Given the description of an element on the screen output the (x, y) to click on. 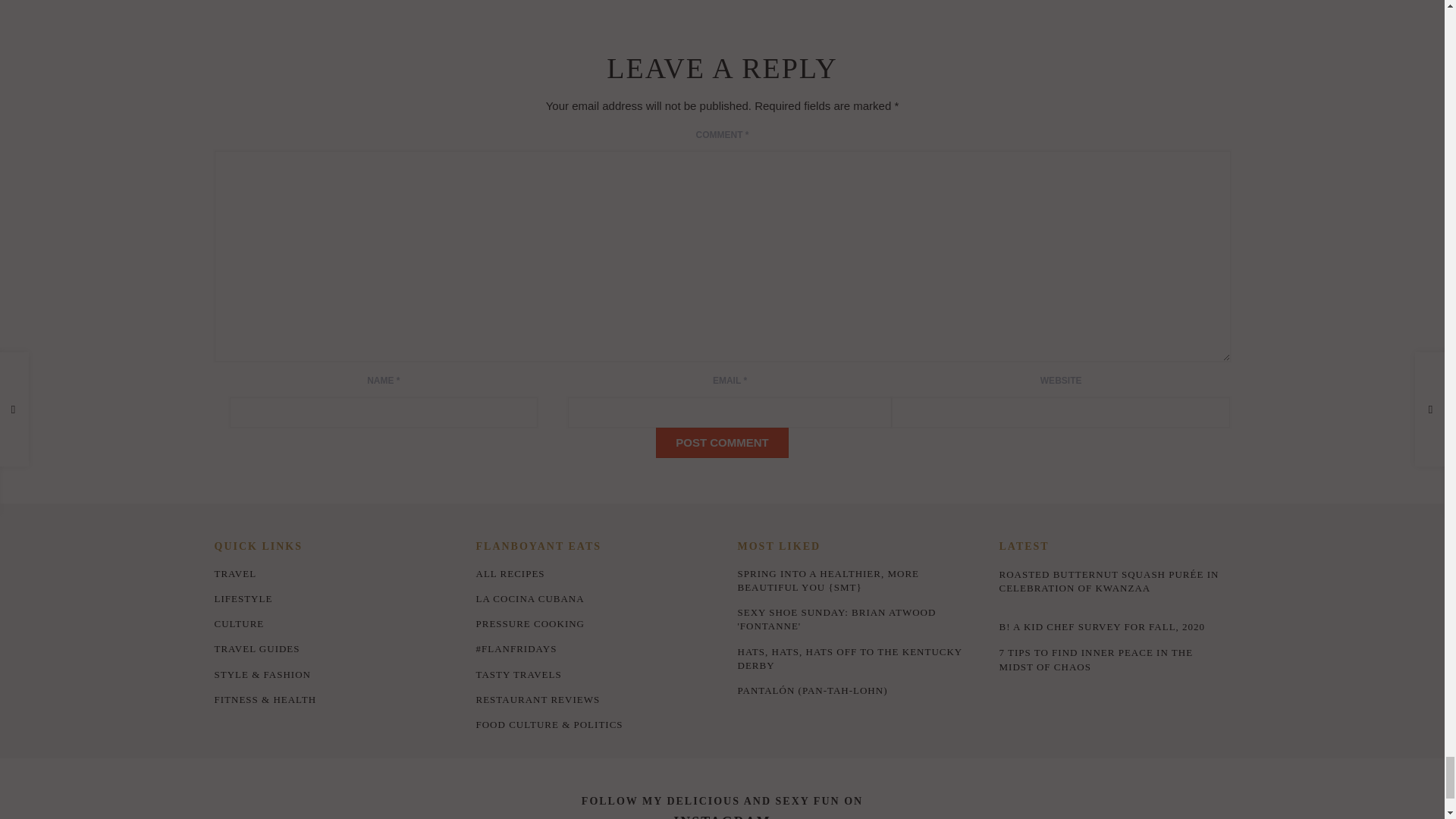
Post Comment (722, 442)
